Given the description of an element on the screen output the (x, y) to click on. 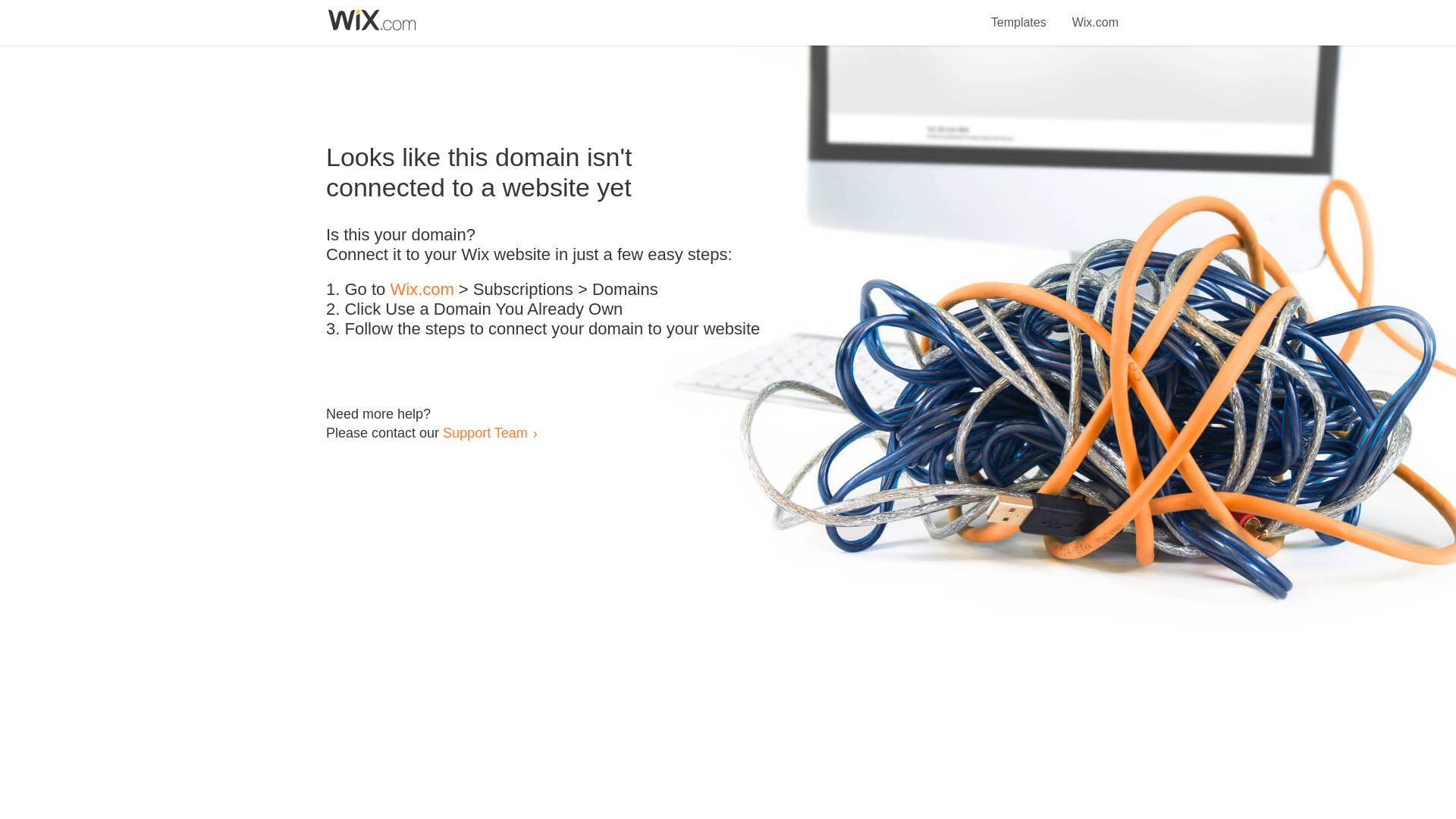
Wix.com (1095, 14)
Support Team (484, 432)
Wix.com (421, 289)
Templates (1018, 14)
